Given the description of an element on the screen output the (x, y) to click on. 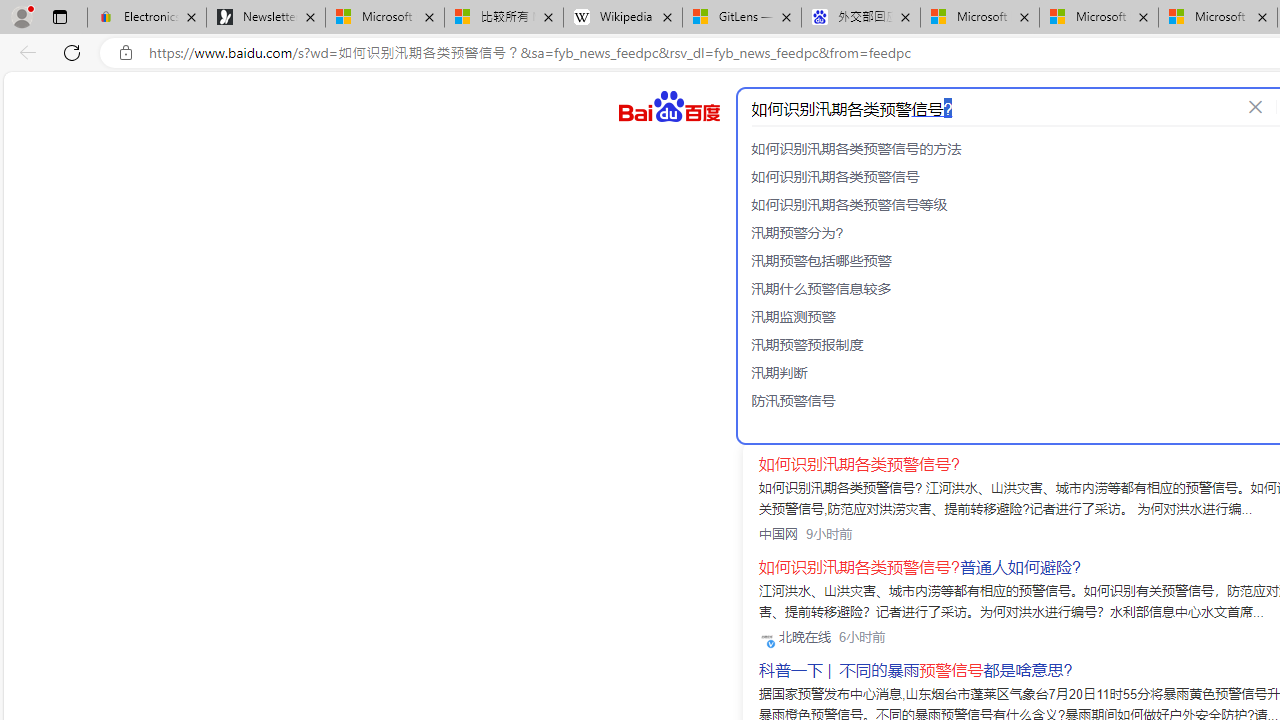
AutomationID: kw (989, 107)
Newsletter Sign Up (266, 17)
